Given the description of an element on the screen output the (x, y) to click on. 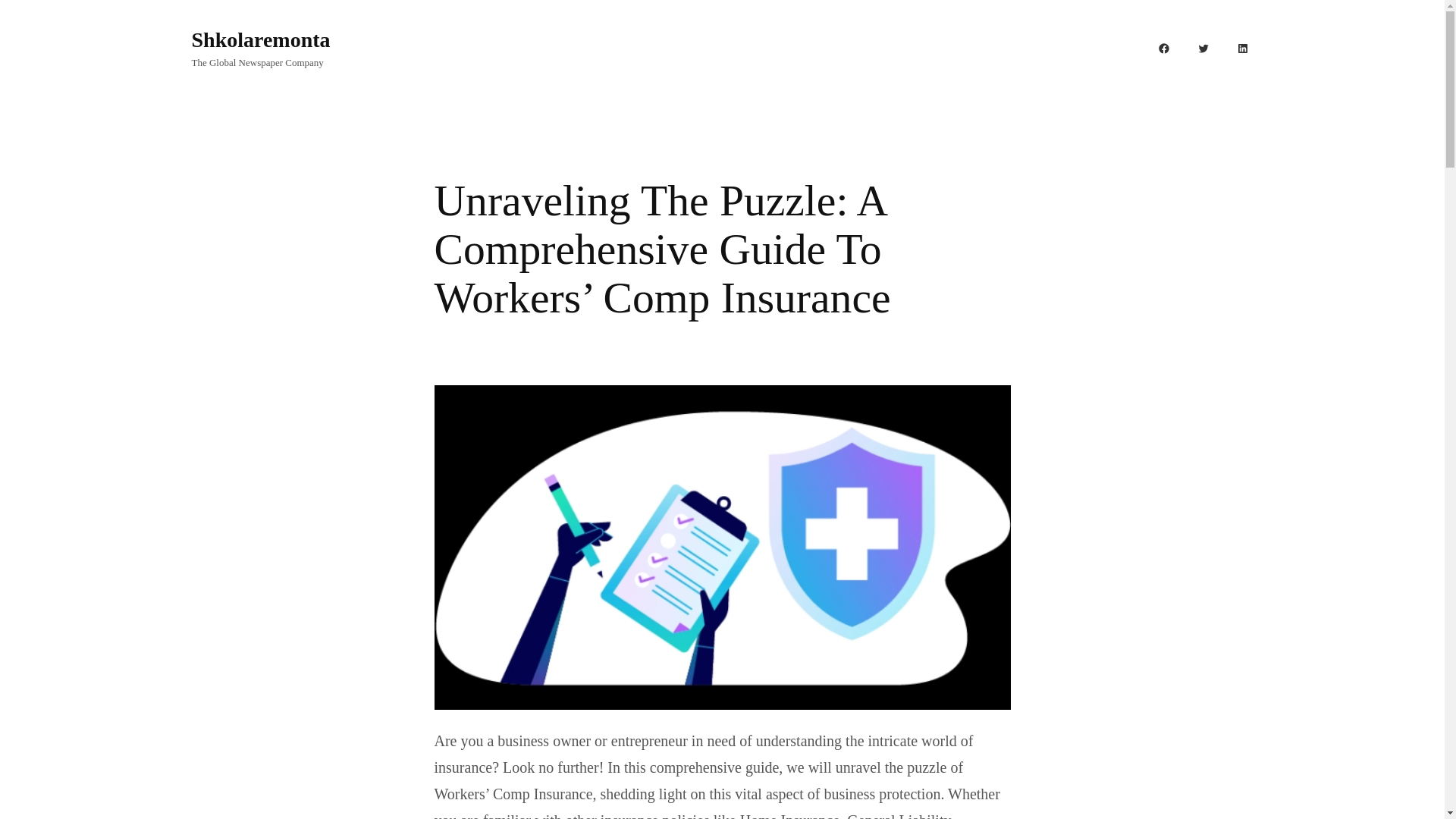
Facebook (1163, 47)
Shkolaremonta (260, 39)
LinkedIn (1241, 47)
Twitter (1202, 47)
